Given the description of an element on the screen output the (x, y) to click on. 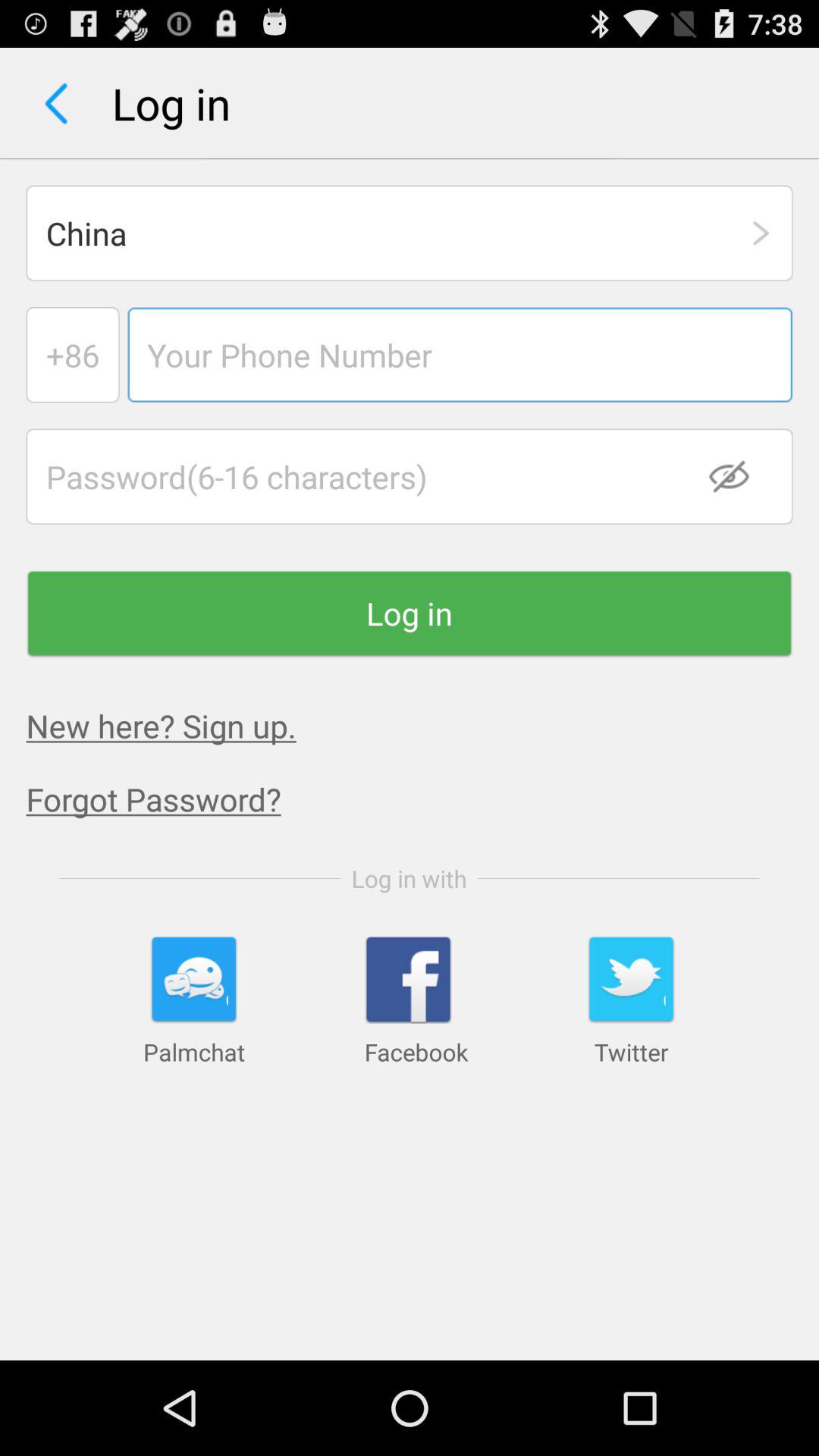
input password (409, 476)
